Given the description of an element on the screen output the (x, y) to click on. 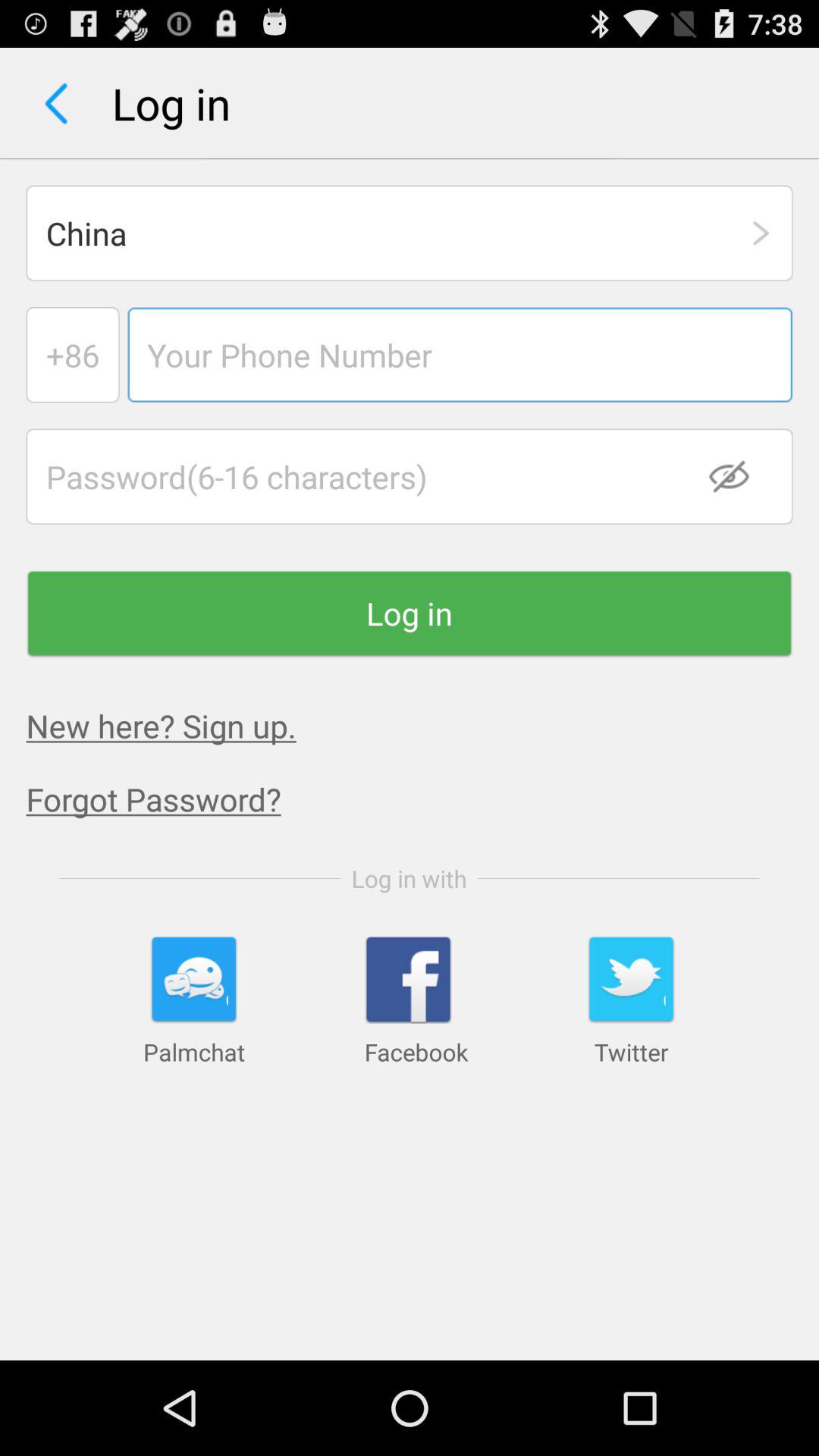
input password (409, 476)
